Given the description of an element on the screen output the (x, y) to click on. 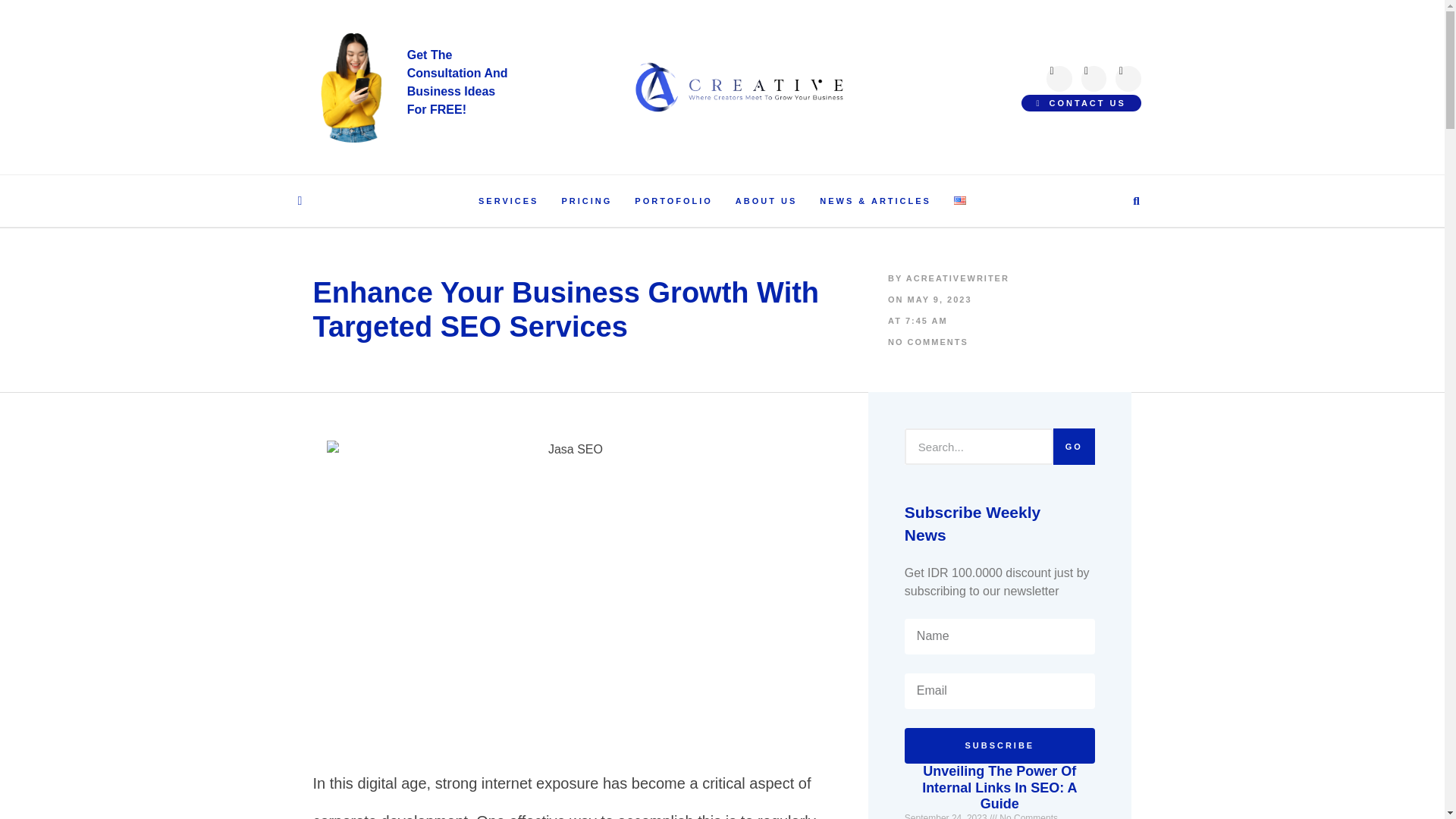
CONTACT US (1041, 99)
ABOUT US (765, 201)
SUBSCRIBE (999, 691)
NO COMMENTS (948, 310)
GO (460, 87)
PORTOFOLIO (928, 341)
ON MAY 9, 2023 (999, 464)
CONTACT US (673, 201)
